Given the description of an element on the screen output the (x, y) to click on. 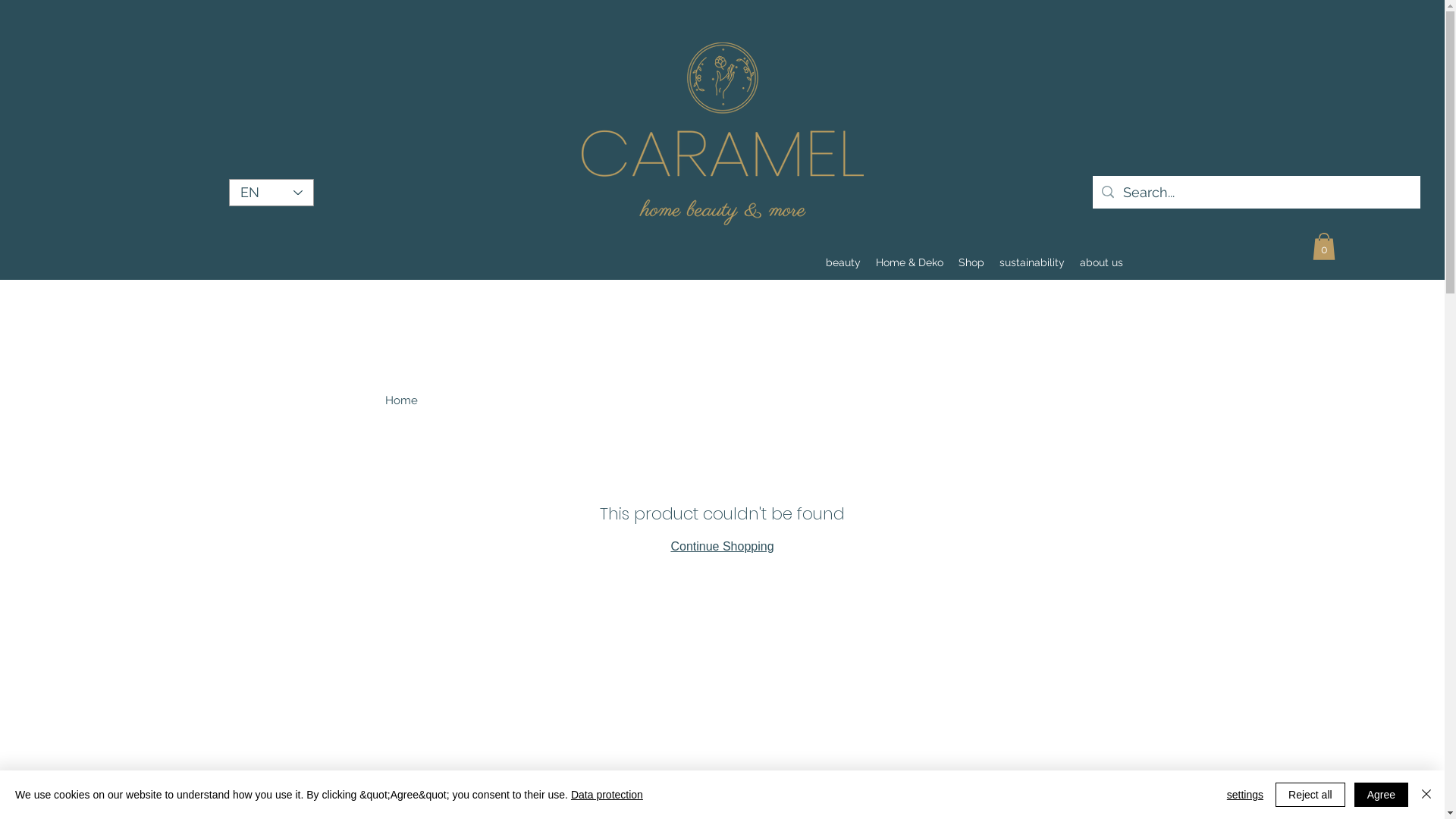
0 Element type: text (1322, 246)
beauty Element type: text (842, 262)
Shop Element type: text (970, 262)
Data protection Element type: text (607, 794)
Reject all Element type: text (1310, 794)
Home & Deko Element type: text (908, 262)
sustainability Element type: text (1031, 262)
Home Element type: text (401, 400)
Continue Shopping Element type: text (721, 545)
Agree Element type: text (1381, 794)
about us Element type: text (1101, 262)
